Given the description of an element on the screen output the (x, y) to click on. 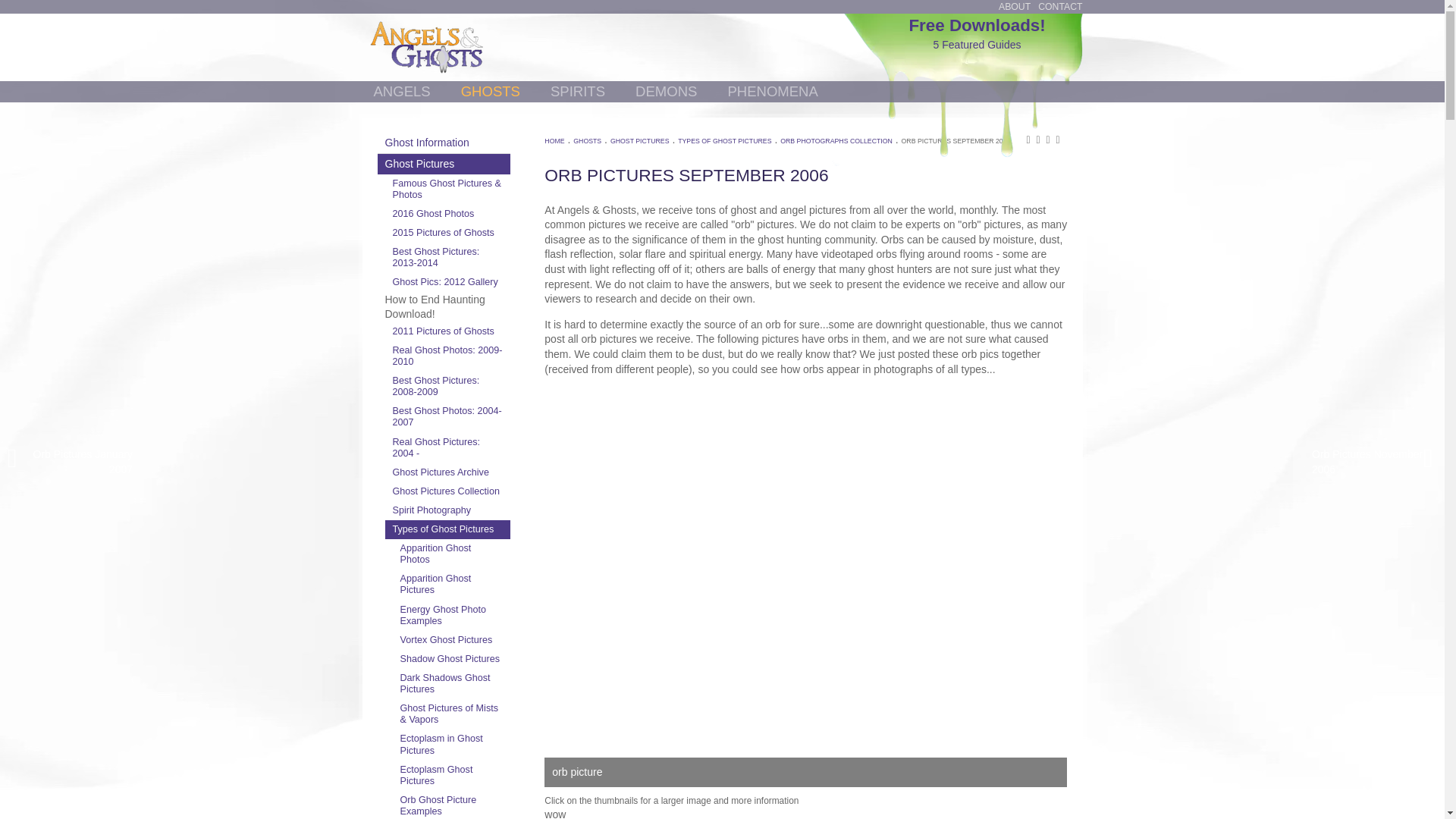
Ghost Pics: 2012 Gallery (448, 281)
Energy Ghost Photo Examples (452, 615)
Ghost Information (444, 142)
Ghost Pictures (444, 163)
Apparition Ghost Pictures (452, 584)
PHENOMENA (772, 91)
Best Ghost Photos: 2004-2007 (448, 417)
Types of Ghost Pictures (448, 529)
Best Ghost Pictures: 2008-2009 (448, 386)
Best Ghost Pictures: 2013-2014 (448, 257)
Ectoplasm Ghost Pictures (452, 775)
Signup for our newsletter (1061, 43)
CONTACT (1059, 6)
Post (1021, 43)
Real Ghost Photos: 2009-2010 (448, 356)
